Given the description of an element on the screen output the (x, y) to click on. 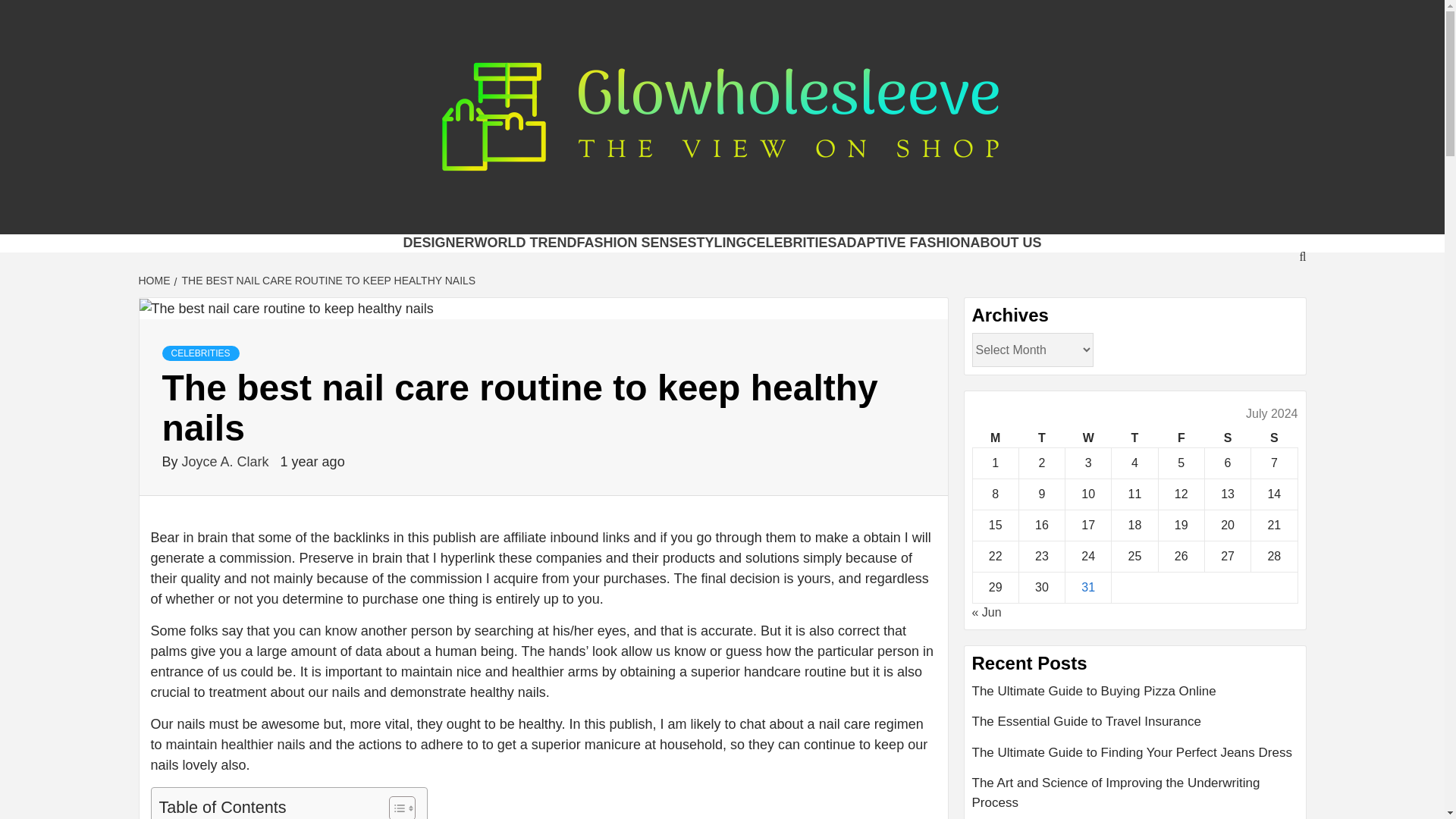
FASHION SENSE (631, 242)
GLOWHOLESLEEVE (514, 214)
WORLD TREND (525, 242)
Monday (994, 438)
The best nail care routine to keep healthy nails (286, 308)
STYLING (716, 242)
HOME (155, 280)
CELEBRITIES (200, 353)
THE BEST NAIL CARE ROUTINE TO KEEP HEALTHY NAILS (327, 280)
ADAPTIVE FASHION (904, 242)
ABOUT US (1006, 242)
DESIGNER (438, 242)
CELEBRITIES (790, 242)
Joyce A. Clark (227, 461)
